Given the description of an element on the screen output the (x, y) to click on. 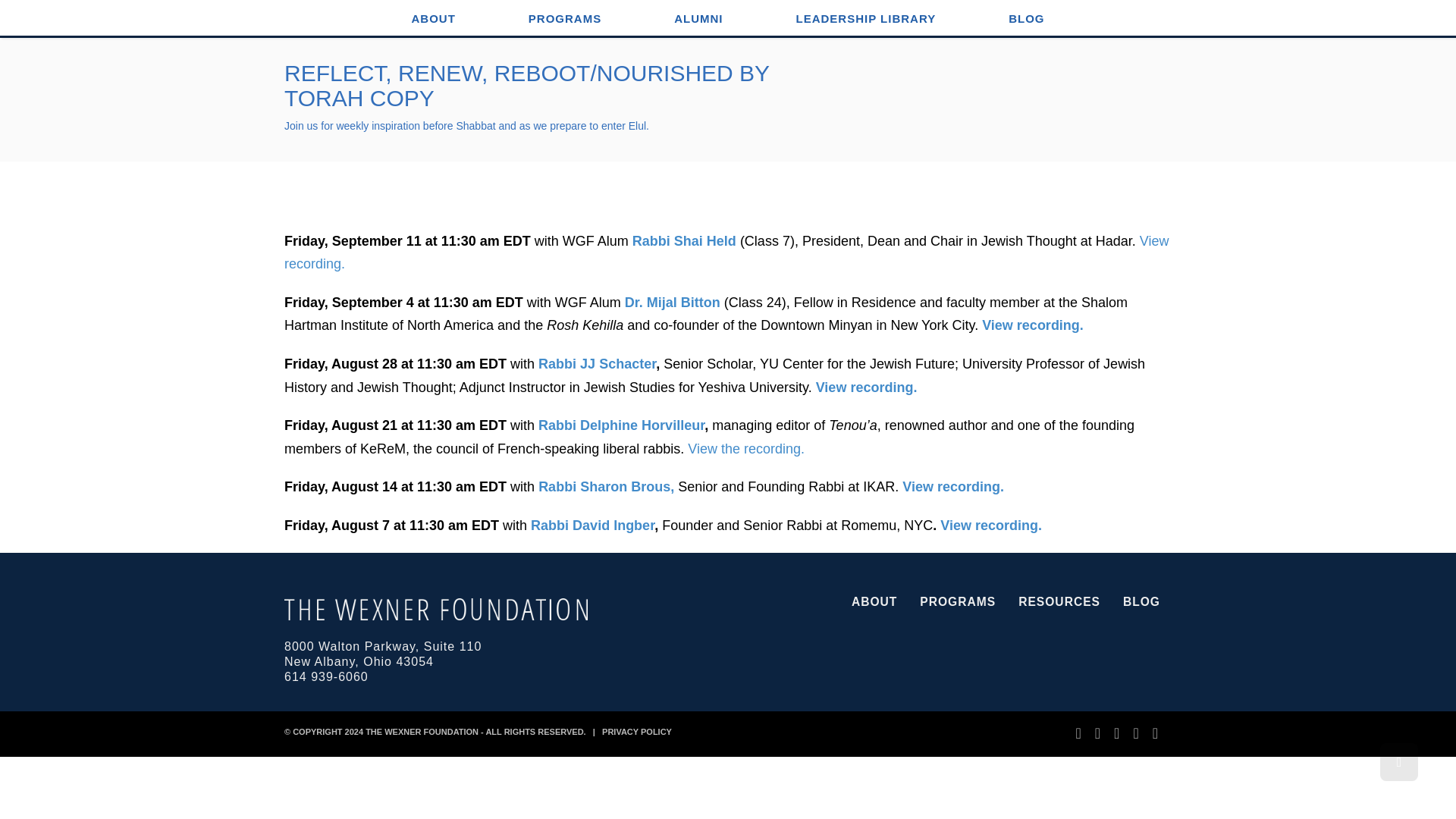
ABOUT (432, 18)
BLOG (1026, 18)
ALUMNI (698, 18)
LEADERSHIP LIBRARY (865, 18)
PROGRAMS (564, 18)
